Given the description of an element on the screen output the (x, y) to click on. 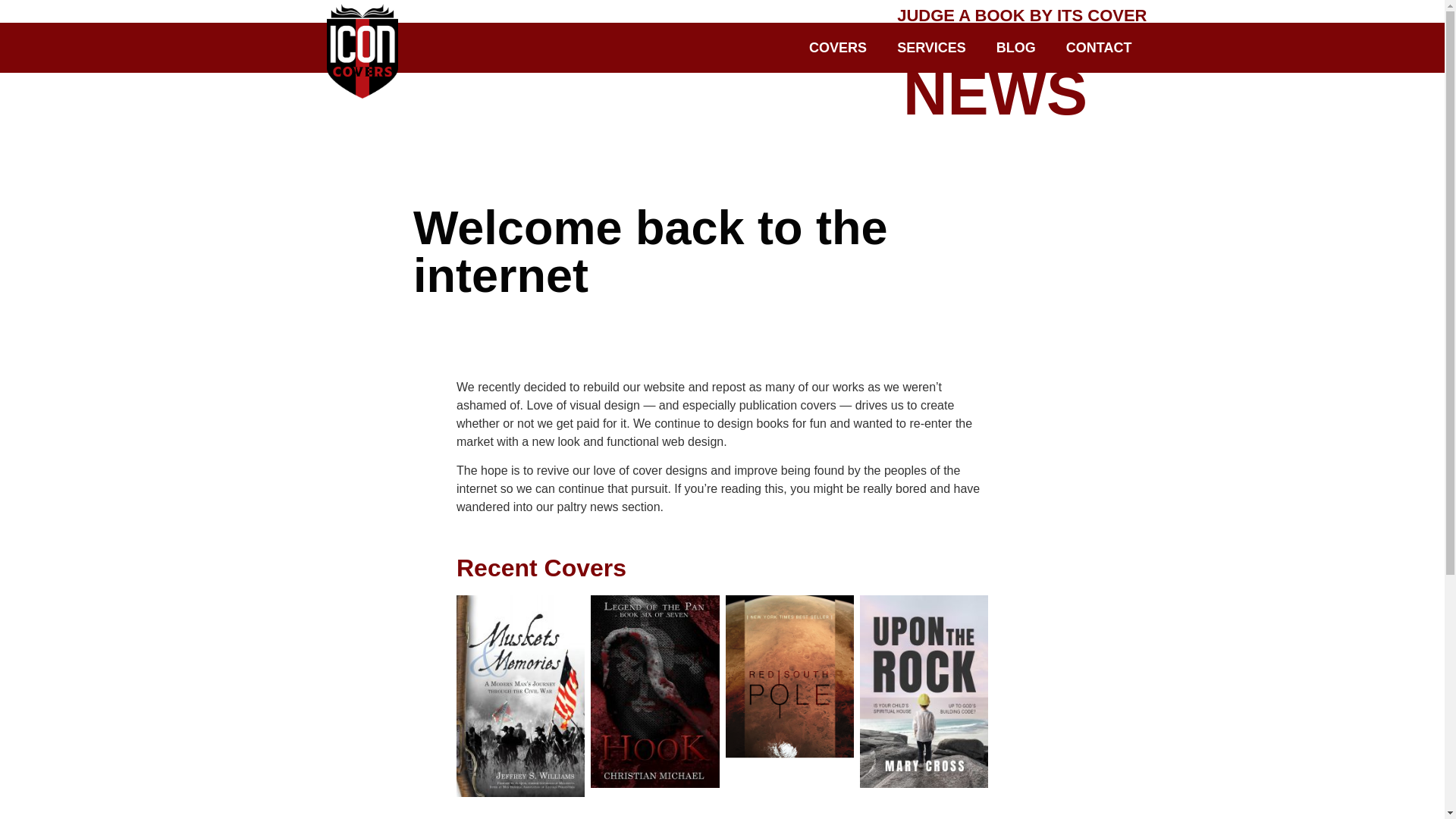
BLOG (1016, 47)
CONTACT (1099, 47)
SERVICES (931, 47)
COVERS (837, 47)
